Given the description of an element on the screen output the (x, y) to click on. 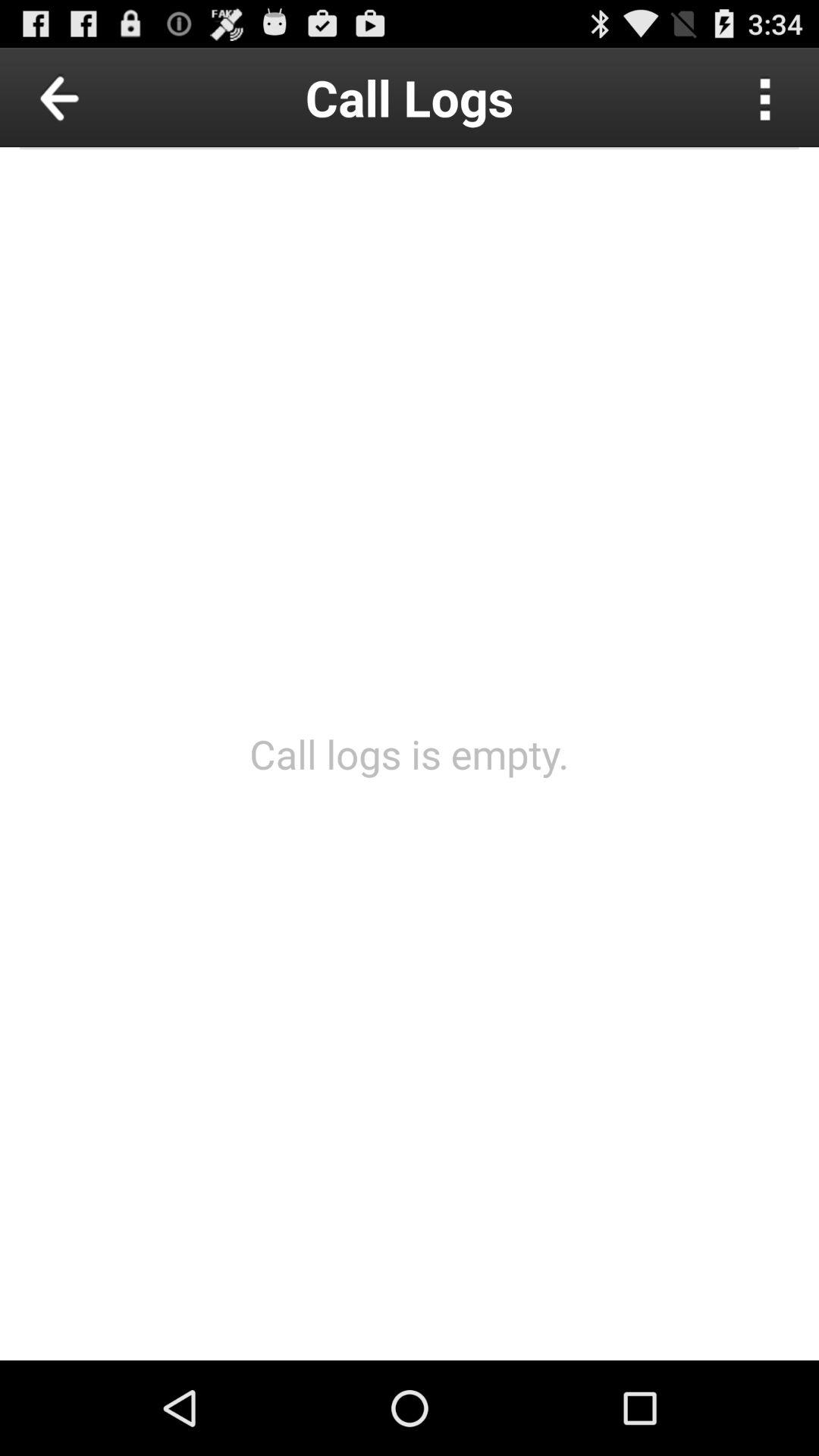
options (765, 97)
